Given the description of an element on the screen output the (x, y) to click on. 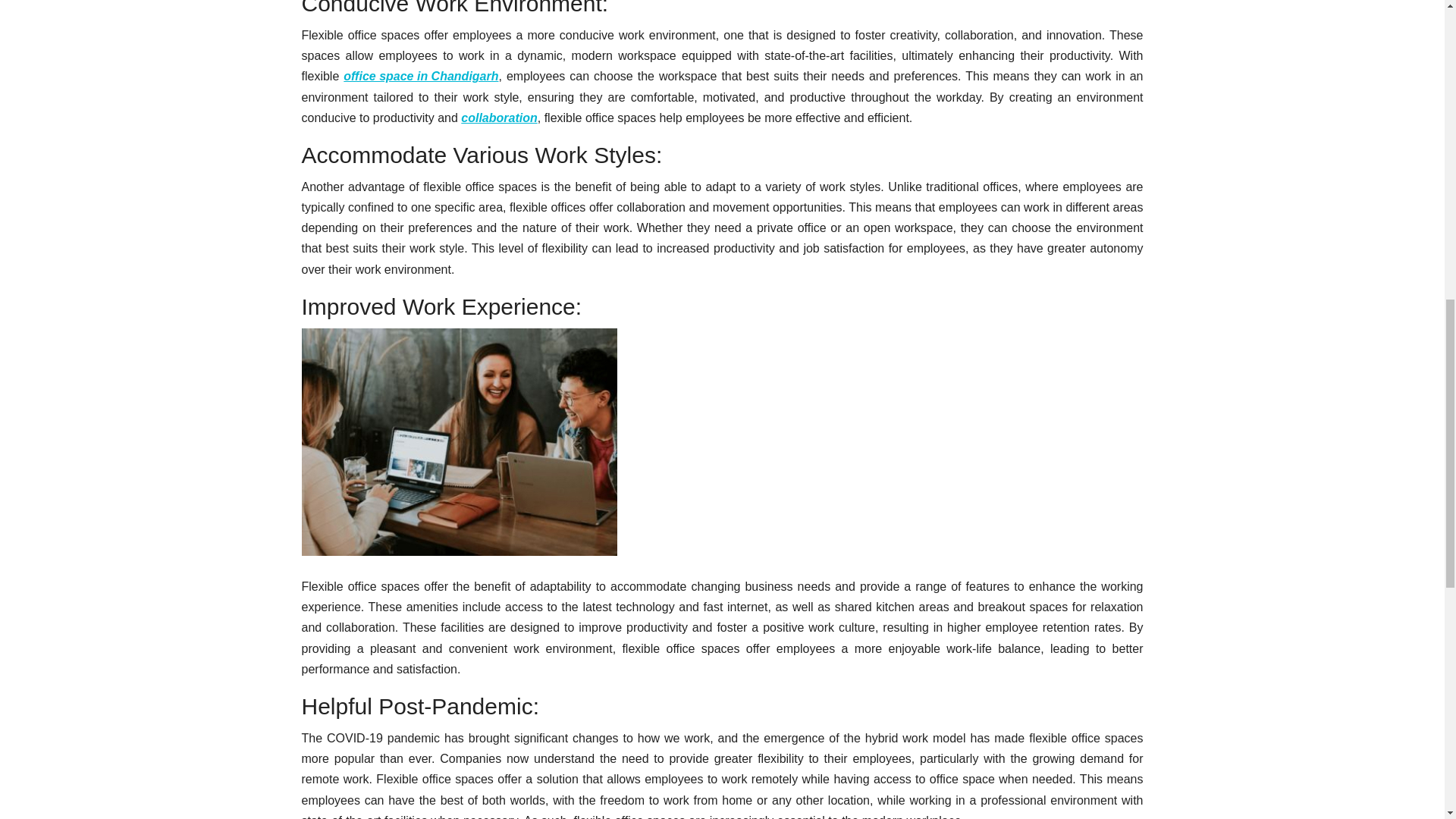
office space in Chandigarh (420, 76)
